Given the description of an element on the screen output the (x, y) to click on. 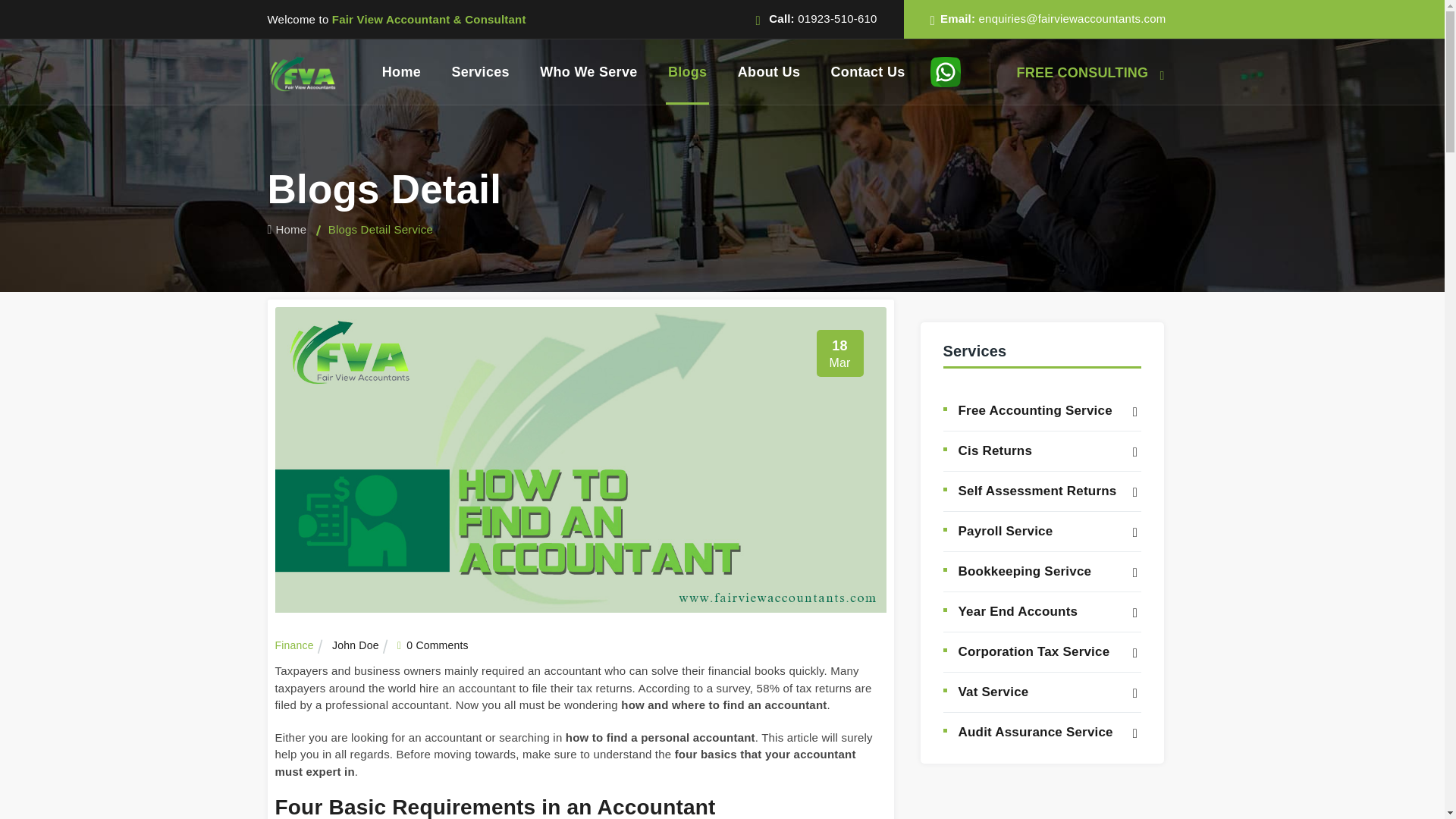
John Doe (362, 645)
Home (400, 71)
About Us (768, 71)
Services (480, 71)
Who We Serve (587, 71)
Contact Us (867, 71)
Finance (302, 645)
Home (285, 228)
Invess (301, 72)
Homepage (285, 228)
FREE CONSULTING (1091, 73)
0 Comments (440, 645)
Blogs (686, 71)
